Given the description of an element on the screen output the (x, y) to click on. 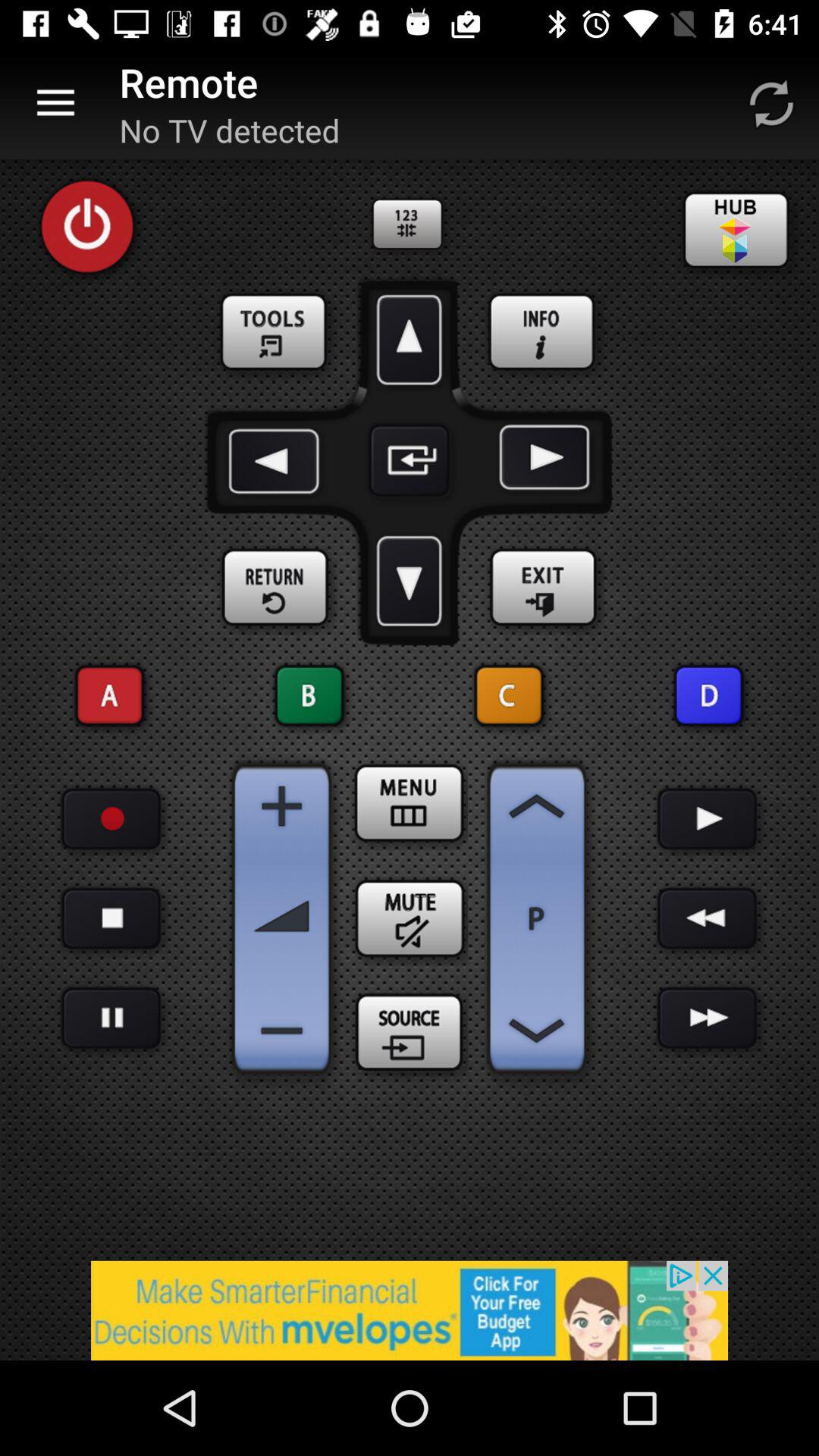
info (542, 332)
